Given the description of an element on the screen output the (x, y) to click on. 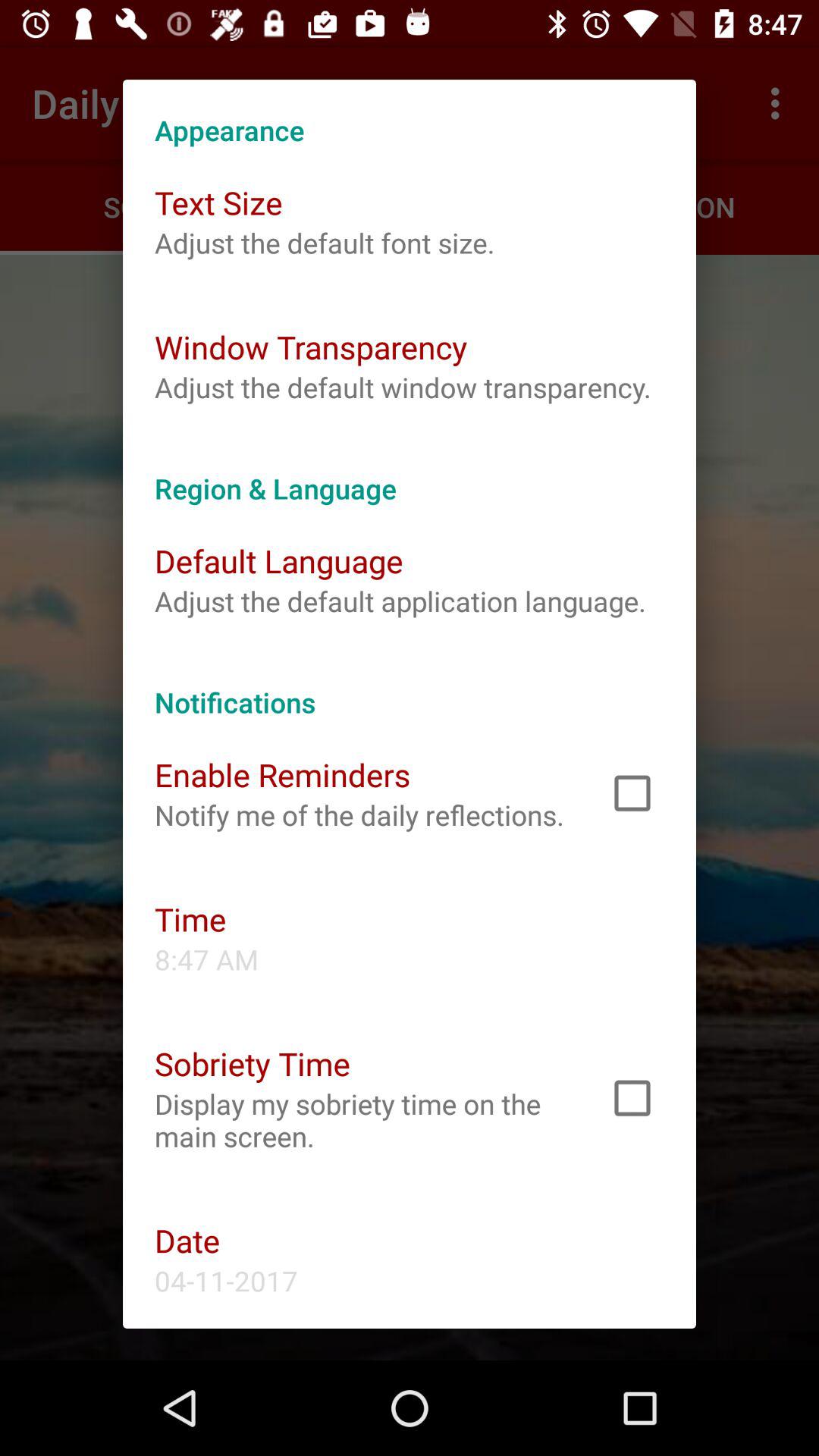
select icon above the time item (359, 814)
